Given the description of an element on the screen output the (x, y) to click on. 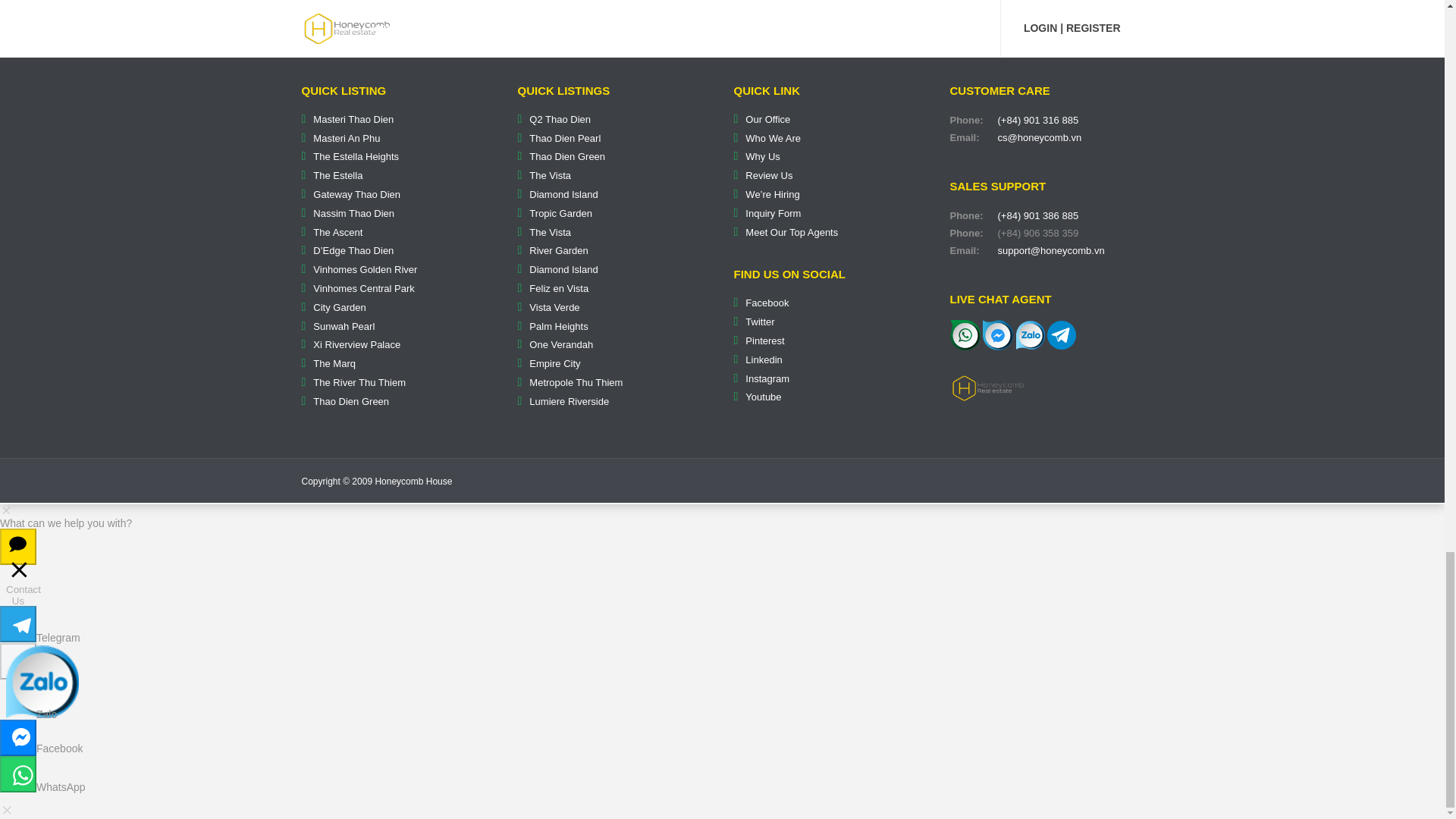
Messenger (997, 333)
Telegram (1060, 335)
WhatsApp (964, 335)
Zalo (1030, 333)
Zalo (1030, 335)
WhatsApp (964, 333)
Messenger (997, 335)
Telegram (1060, 333)
